Given the description of an element on the screen output the (x, y) to click on. 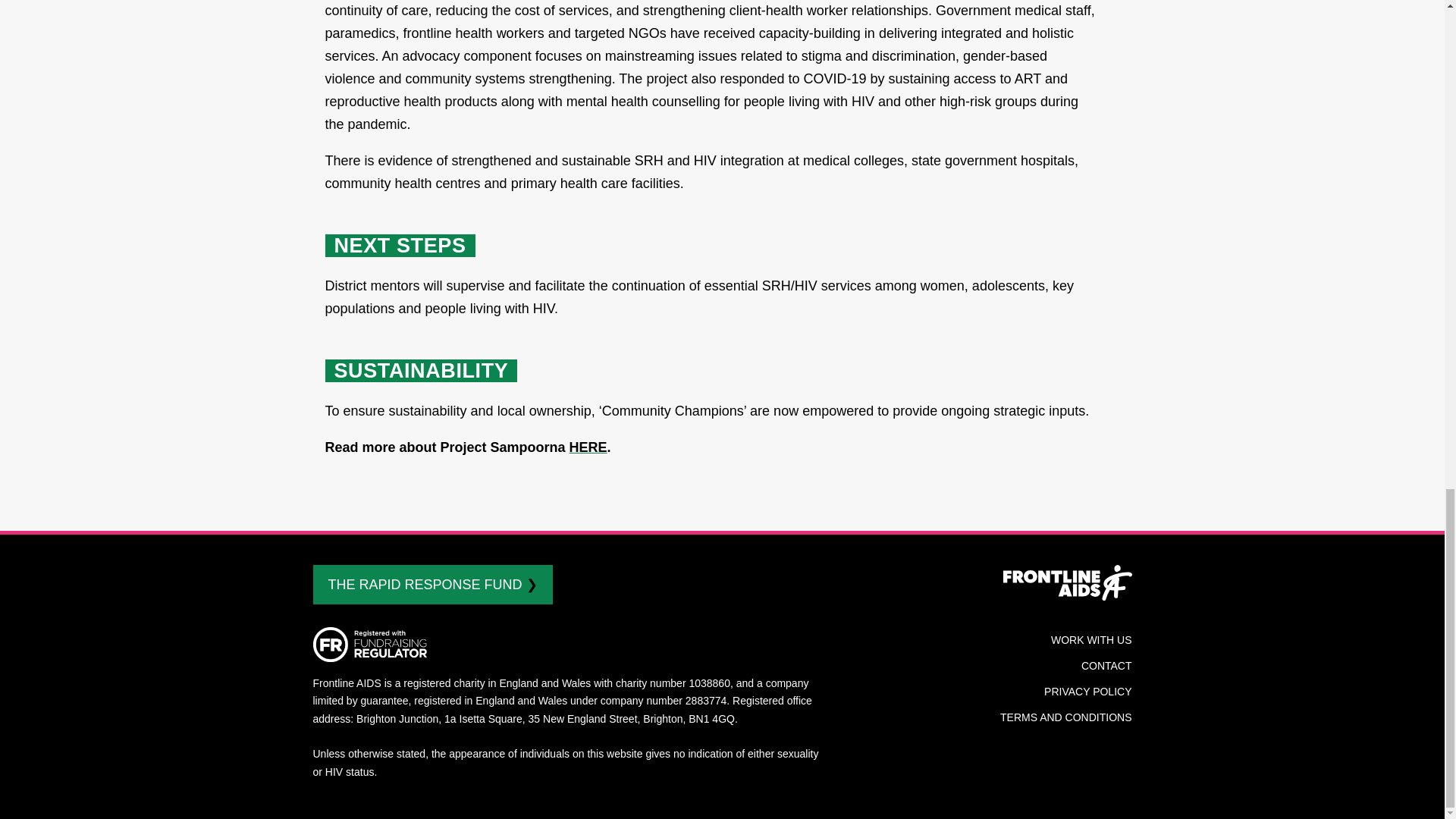
CONTACT (1106, 665)
HERE (588, 447)
THE RAPID RESPONSE FUND (432, 584)
WORK WITH US (1091, 639)
